Given the description of an element on the screen output the (x, y) to click on. 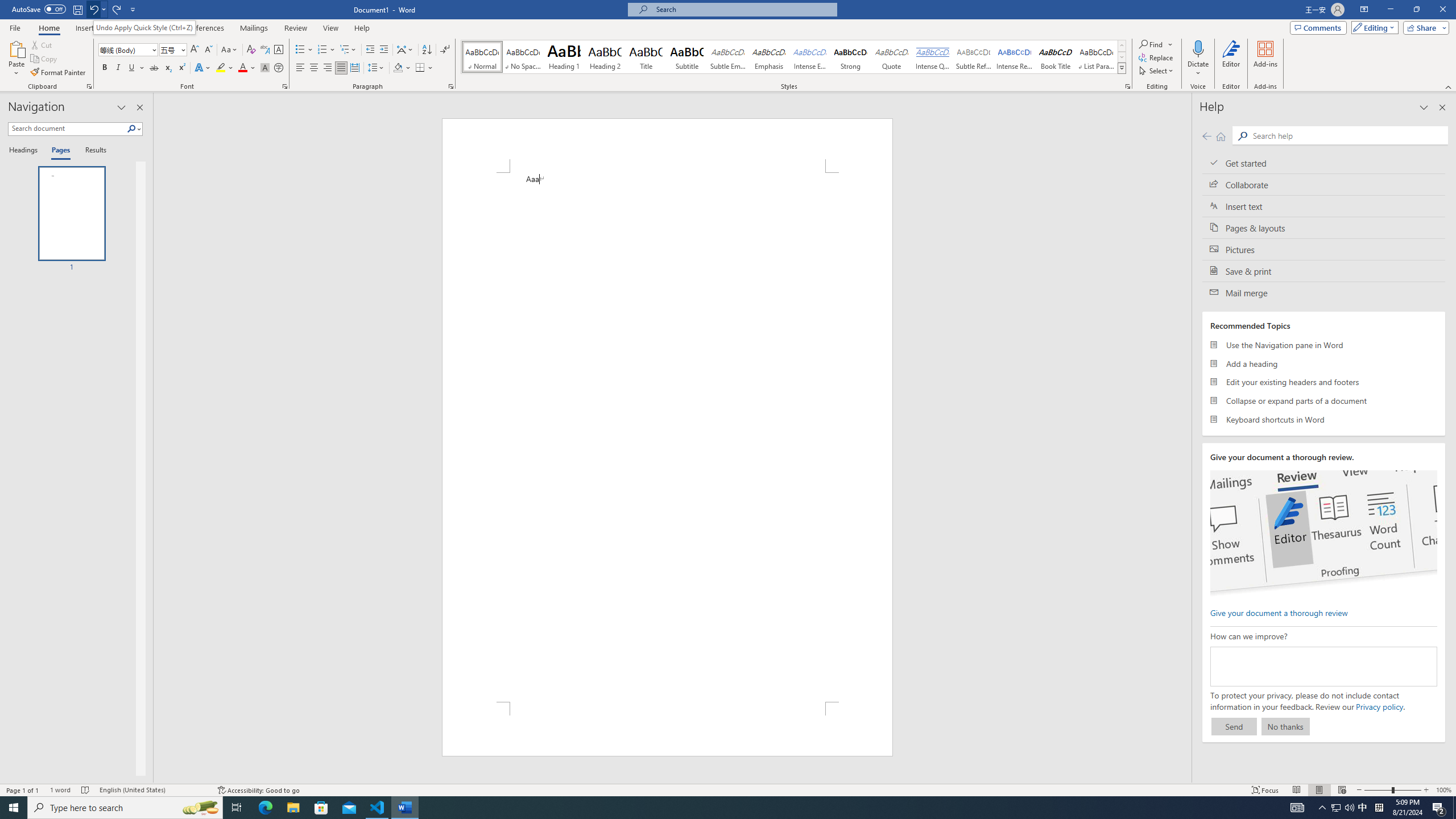
Asian Layout (405, 49)
Class: NetUIScrollBar (1186, 437)
Book Title (1055, 56)
Shading RGB(0, 0, 0) (397, 67)
Phonetic Guide... (264, 49)
Text Highlight Color (224, 67)
